Given the description of an element on the screen output the (x, y) to click on. 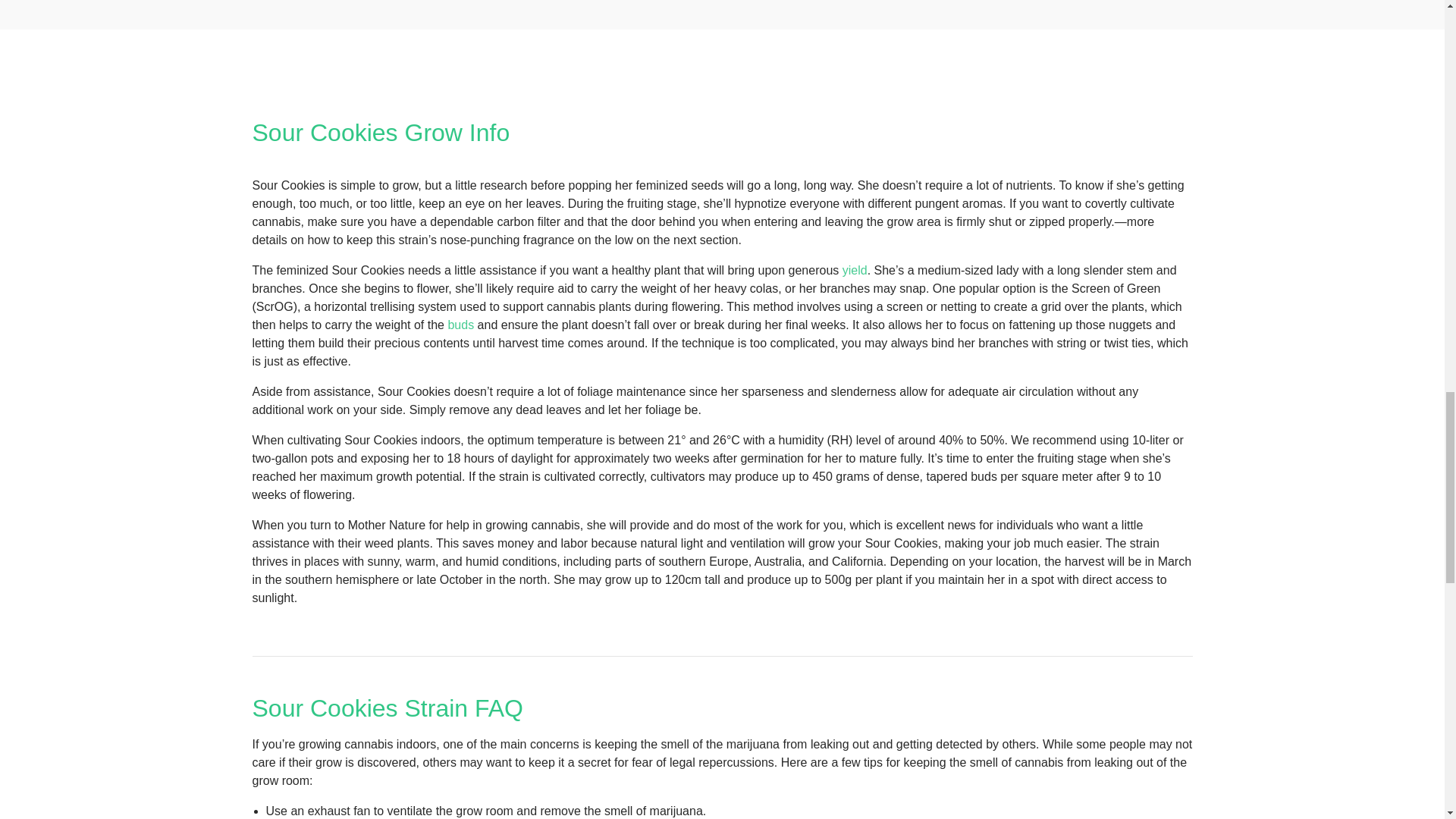
yield (855, 269)
yield (855, 269)
buds (460, 324)
